Given the description of an element on the screen output the (x, y) to click on. 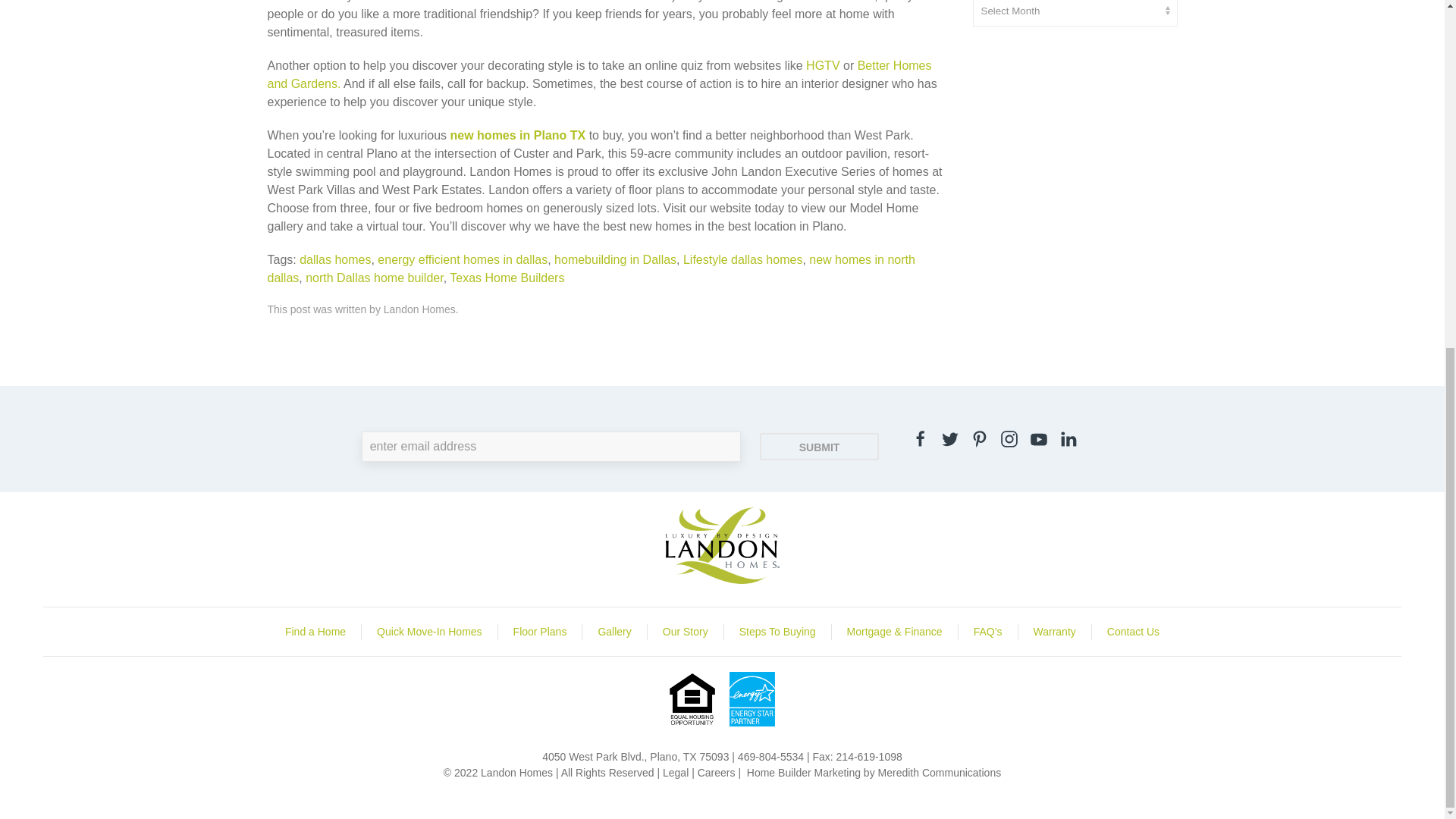
submit (819, 446)
dallas homes (335, 259)
Better Homes and Gardens. (598, 74)
energy efficient homes in dallas (462, 259)
new homes in Plano TX (519, 134)
new homes in Plano, TX (519, 134)
homebuilding in Dallas (615, 259)
HGTV (823, 65)
